Given the description of an element on the screen output the (x, y) to click on. 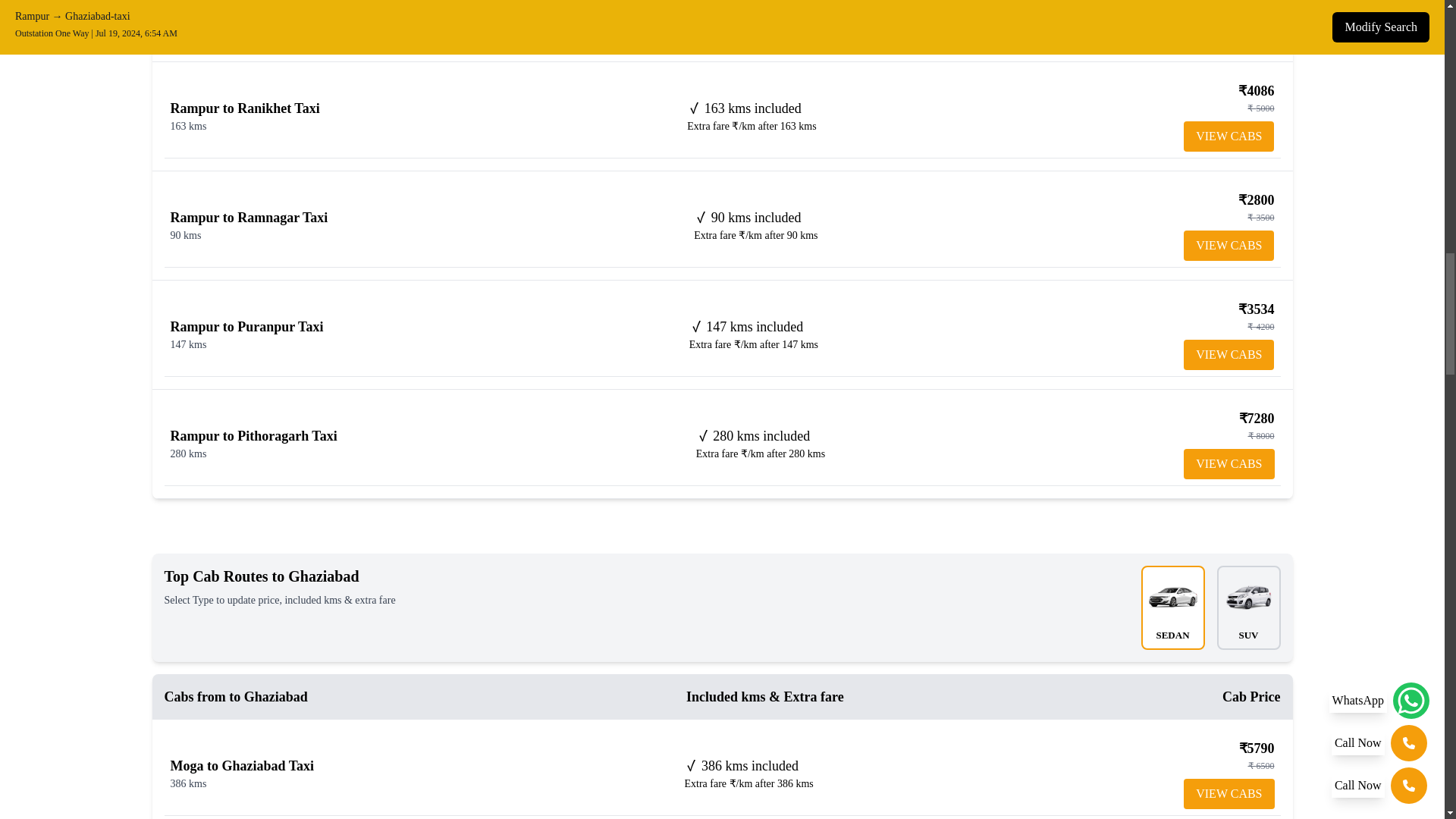
Moga to Ghaziabad Taxi (242, 765)
Rampur to Ranikhet Taxi (244, 107)
Rampur to Puranpur Taxi (246, 325)
Rampur to Ramnagar Taxi (248, 216)
VIEW CABS (1228, 793)
VIEW CABS (1228, 245)
VIEW CABS (1228, 354)
VIEW CABS (1228, 27)
Rampur to Rishikesh Taxi (245, 2)
VIEW CABS (1228, 463)
VIEW CABS (1228, 136)
Rampur to Pithoragarh Taxi (253, 435)
